Given the description of an element on the screen output the (x, y) to click on. 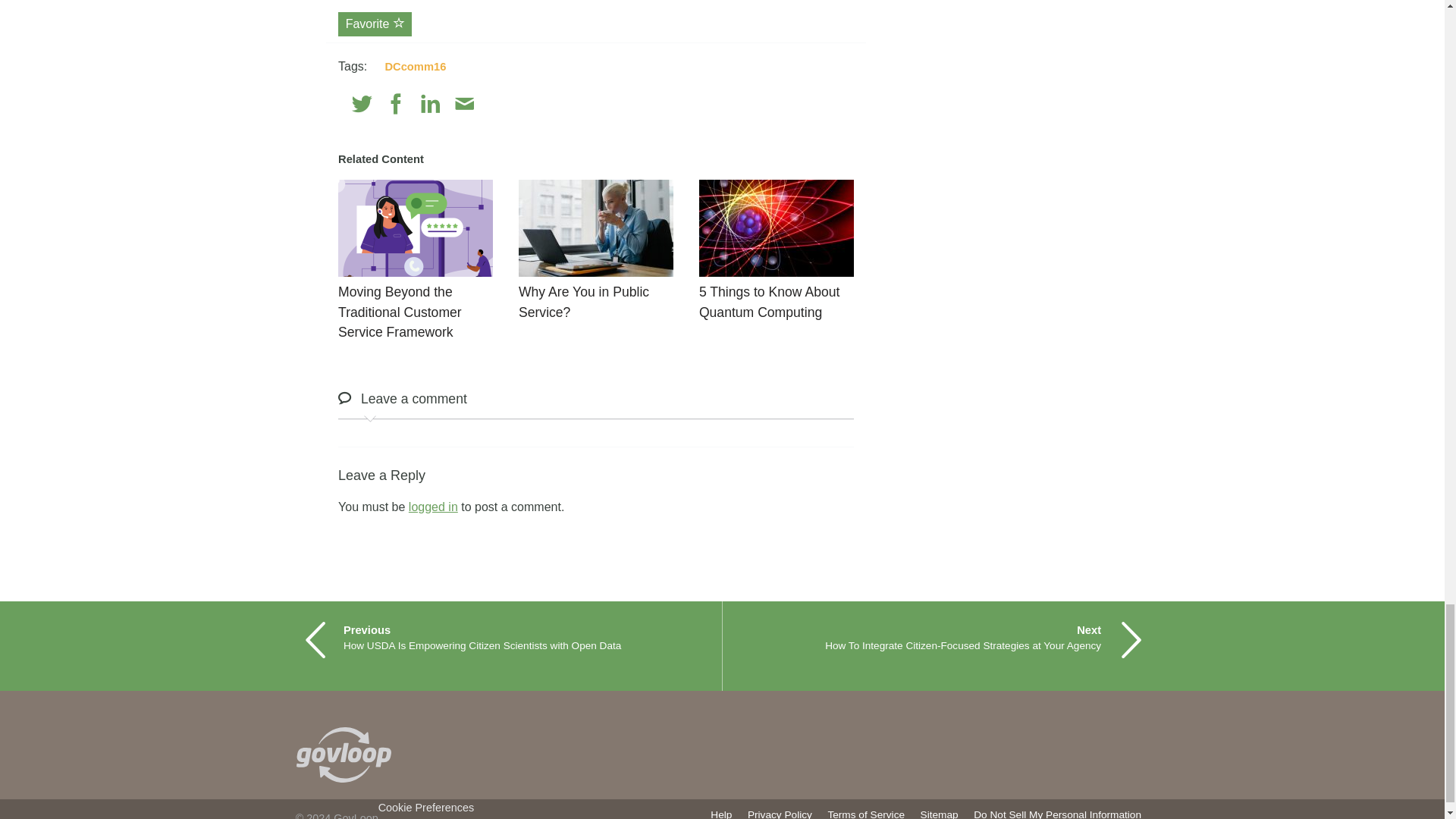
Facebook (395, 104)
Email (464, 104)
Linkedin (430, 104)
Print (497, 104)
Twitter (362, 104)
